Given the description of an element on the screen output the (x, y) to click on. 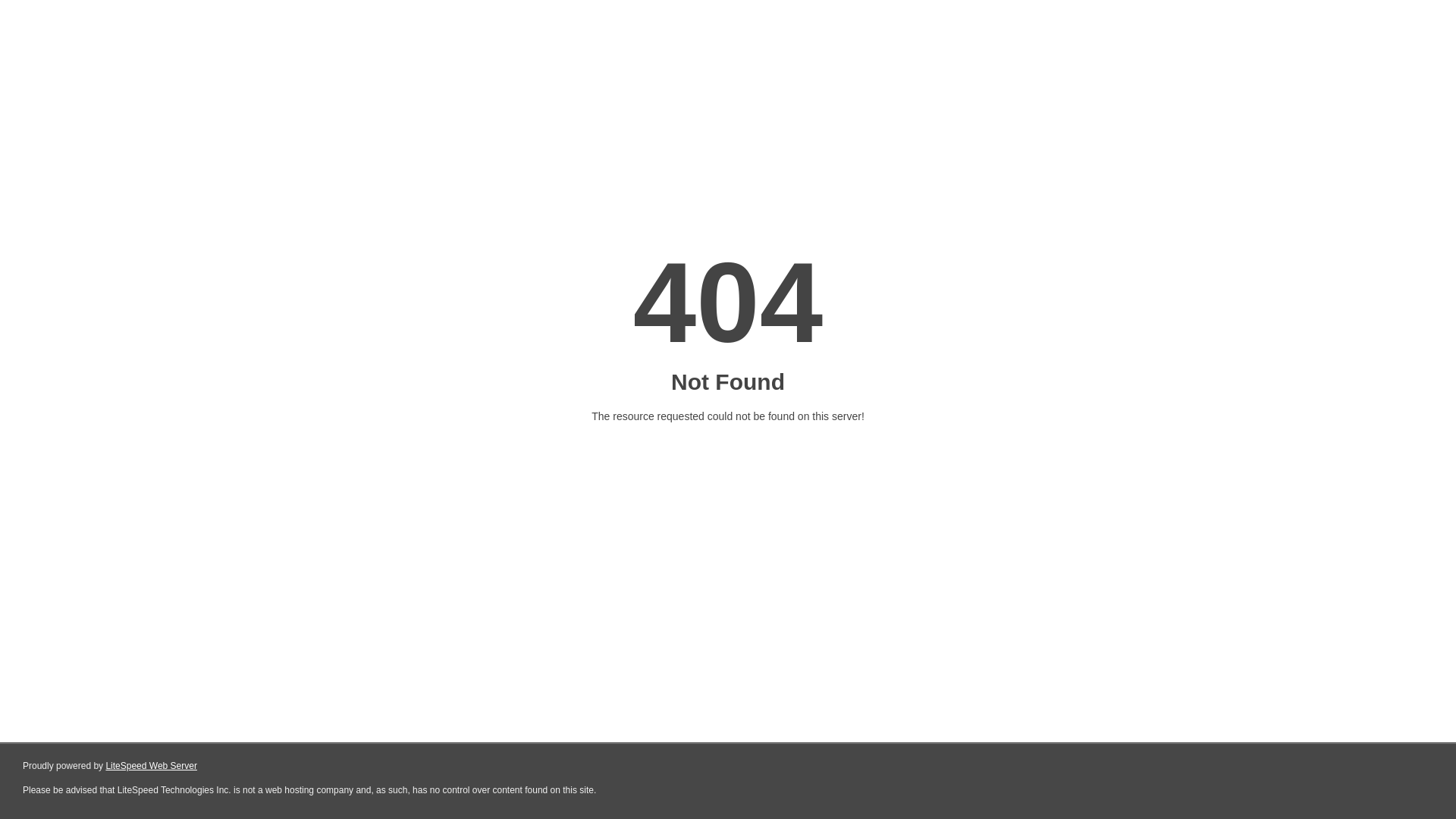
LiteSpeed Web Server Element type: text (151, 765)
